Given the description of an element on the screen output the (x, y) to click on. 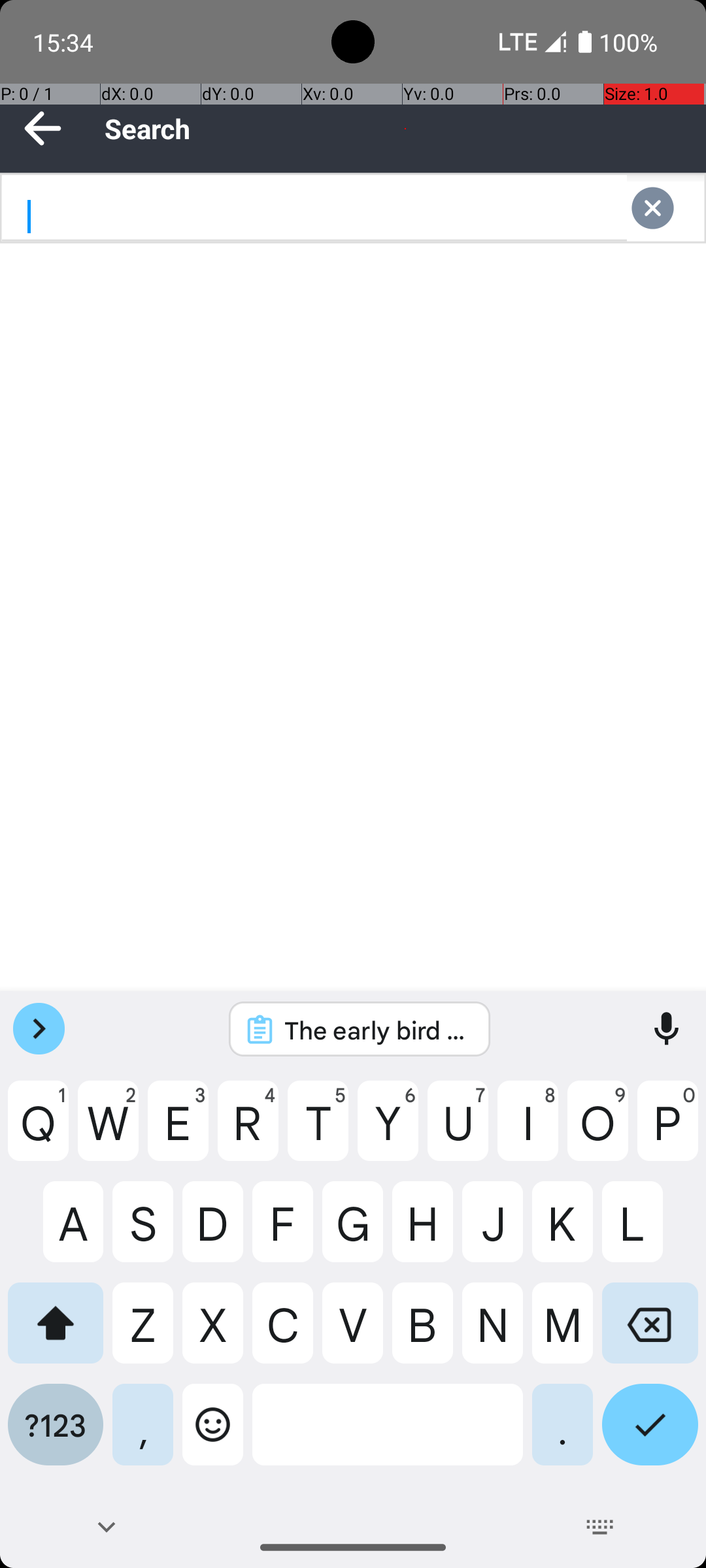
 Element type: android.widget.TextView (665, 207)
The early bird catches the worm. Element type: android.widget.TextView (376, 1029)
